Given the description of an element on the screen output the (x, y) to click on. 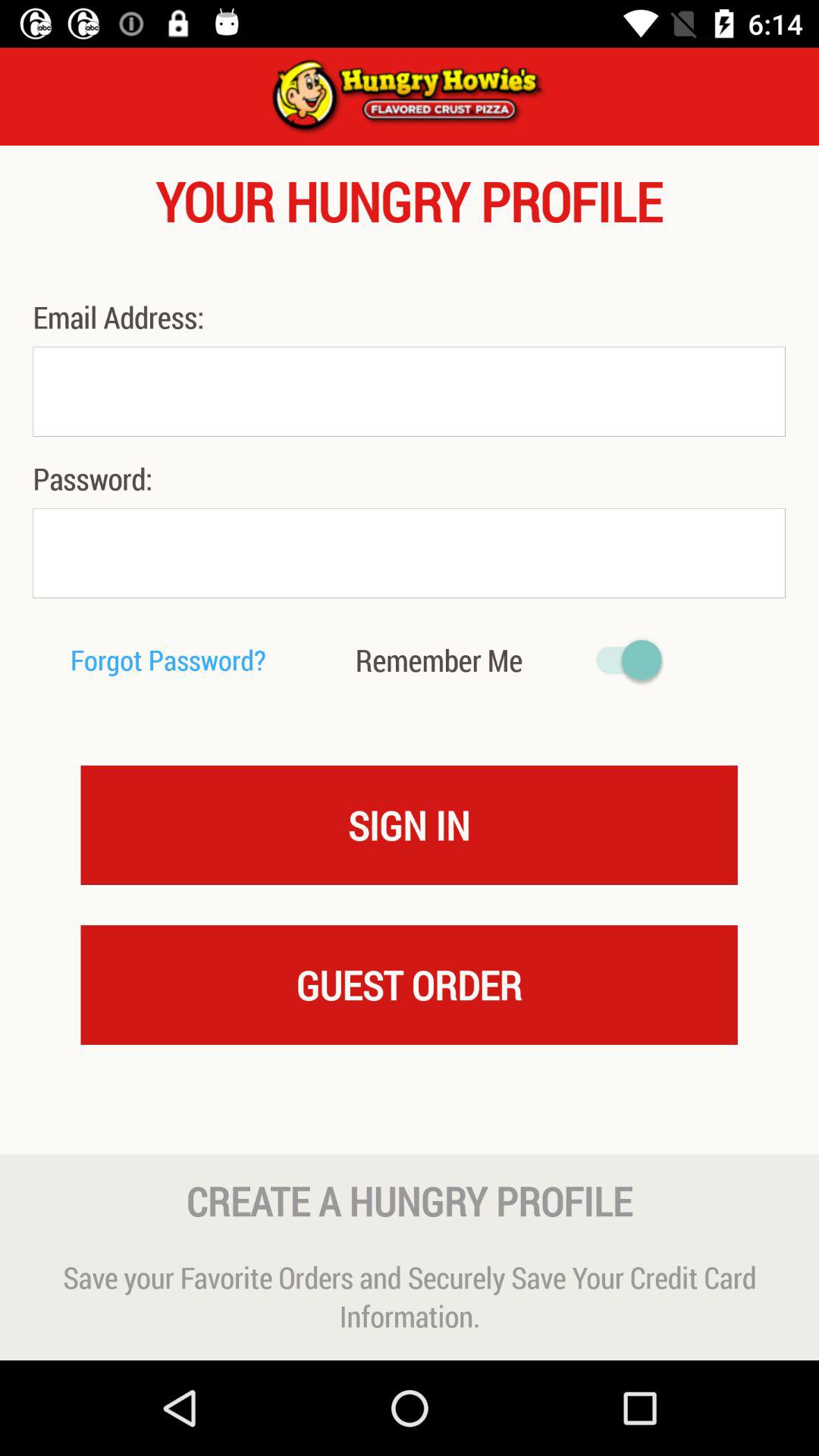
launch email address: (122, 316)
